Given the description of an element on the screen output the (x, y) to click on. 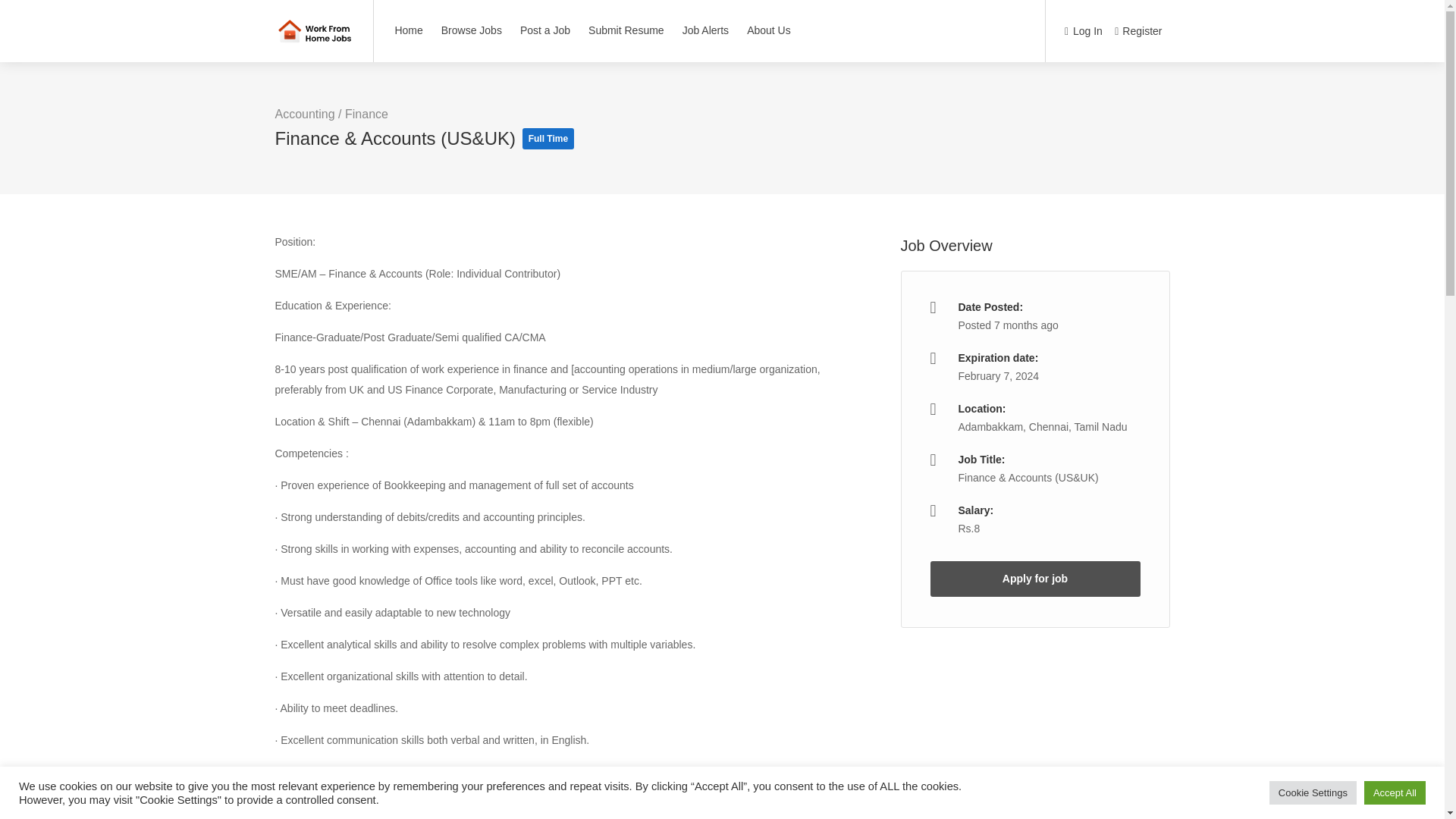
Work From Home Jobs (314, 22)
Register (1138, 31)
About Us (768, 30)
Adambakkam, Chennai, Tamil Nadu (1042, 426)
Job Alerts (705, 30)
Submit Resume (625, 30)
Post a Job (545, 30)
Cookie Settings (1312, 792)
Accept All (1394, 792)
Home (407, 30)
Browse Jobs (471, 30)
Log In (1083, 31)
Apply for job (1035, 579)
